Given the description of an element on the screen output the (x, y) to click on. 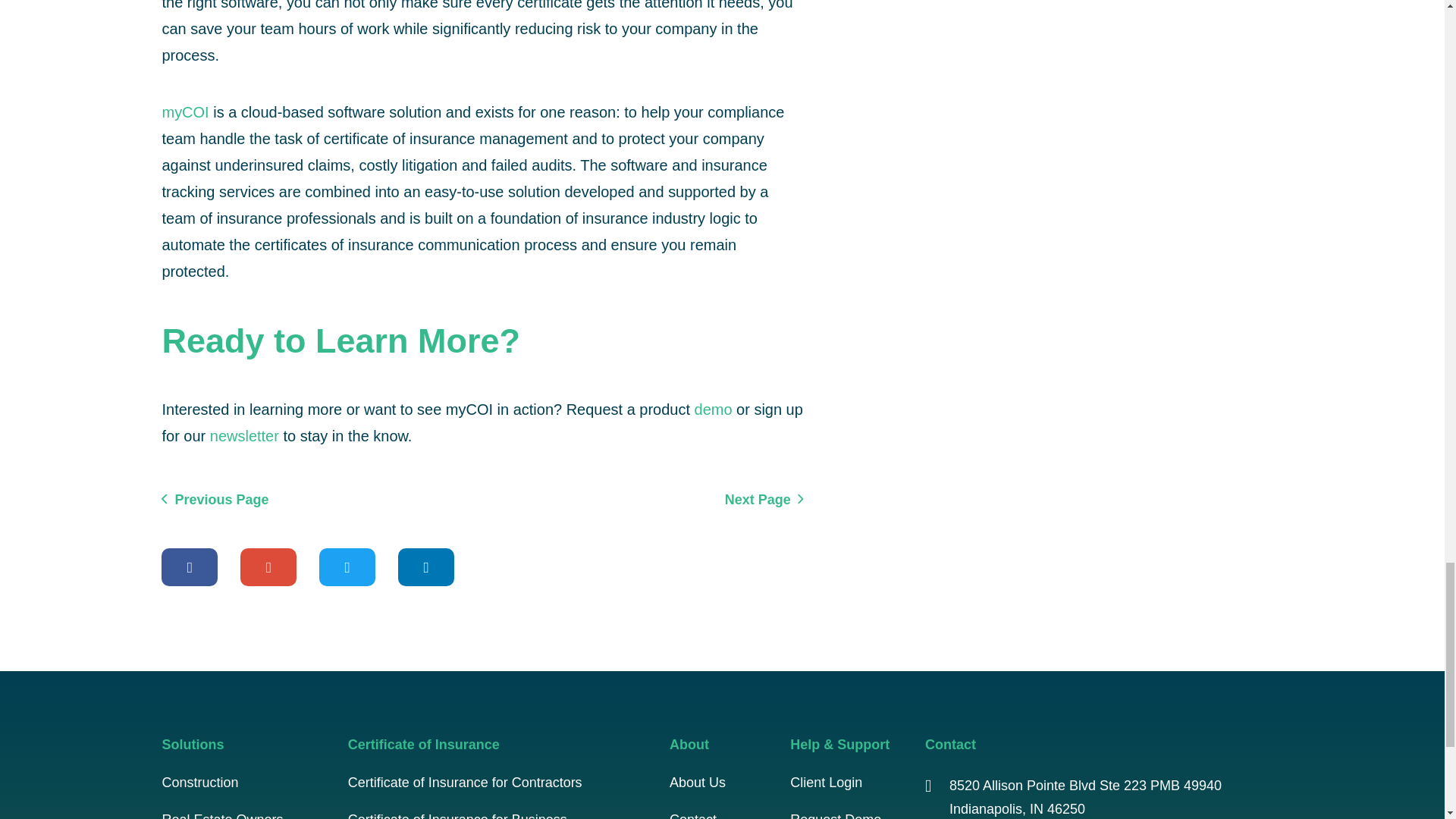
Next Page (764, 498)
newsletter (244, 435)
myCOI (184, 112)
demo (713, 409)
Previous Page (214, 498)
